Given the description of an element on the screen output the (x, y) to click on. 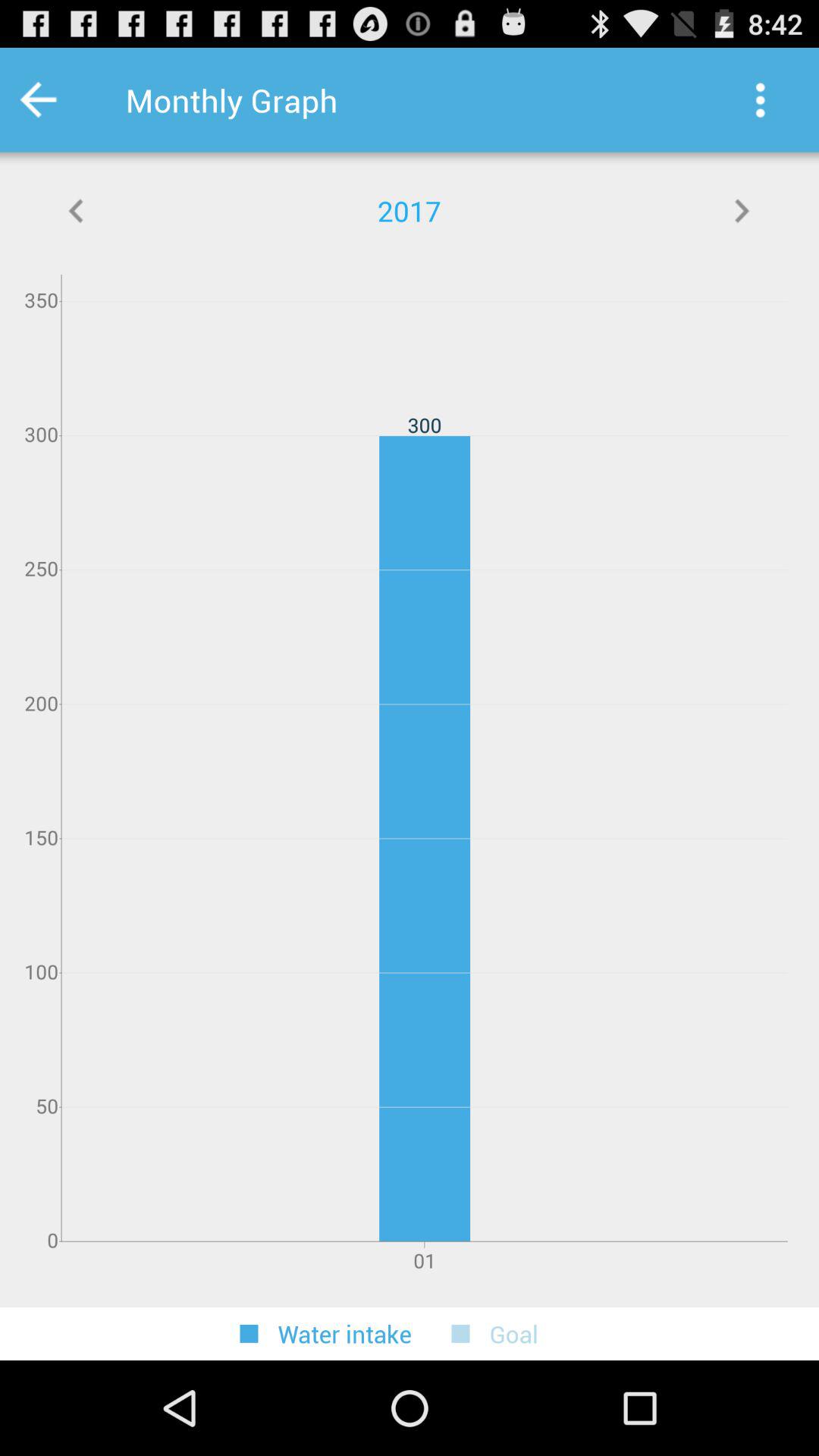
go to next year (742, 210)
